Given the description of an element on the screen output the (x, y) to click on. 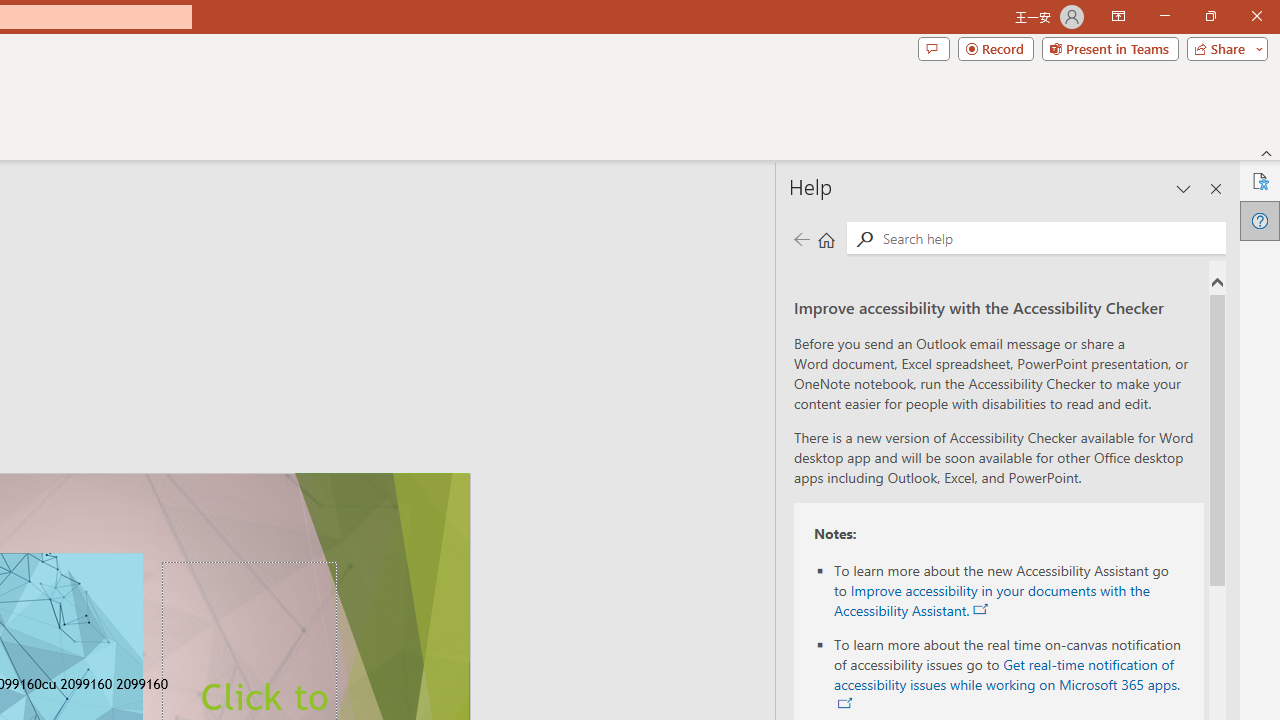
Previous page (801, 238)
openinnewwindow (845, 704)
